Given the description of an element on the screen output the (x, y) to click on. 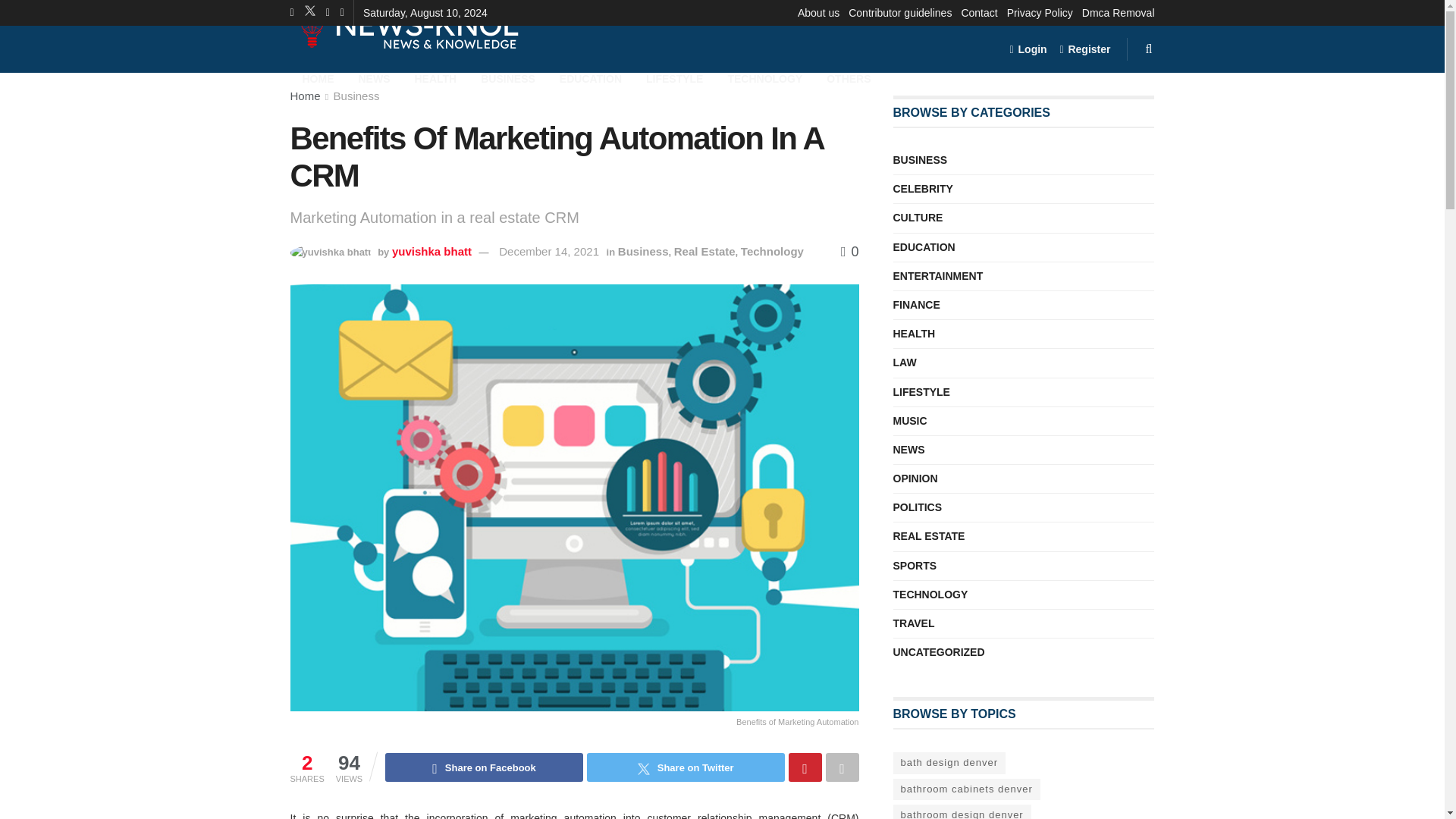
Business (356, 95)
Contributor guidelines (900, 12)
About us (818, 12)
HOME (317, 77)
LIFESTYLE (673, 77)
Register (1084, 48)
Dmca Removal (1117, 12)
NEWS (373, 77)
BUSINESS (507, 77)
Technology (772, 250)
